Given the description of an element on the screen output the (x, y) to click on. 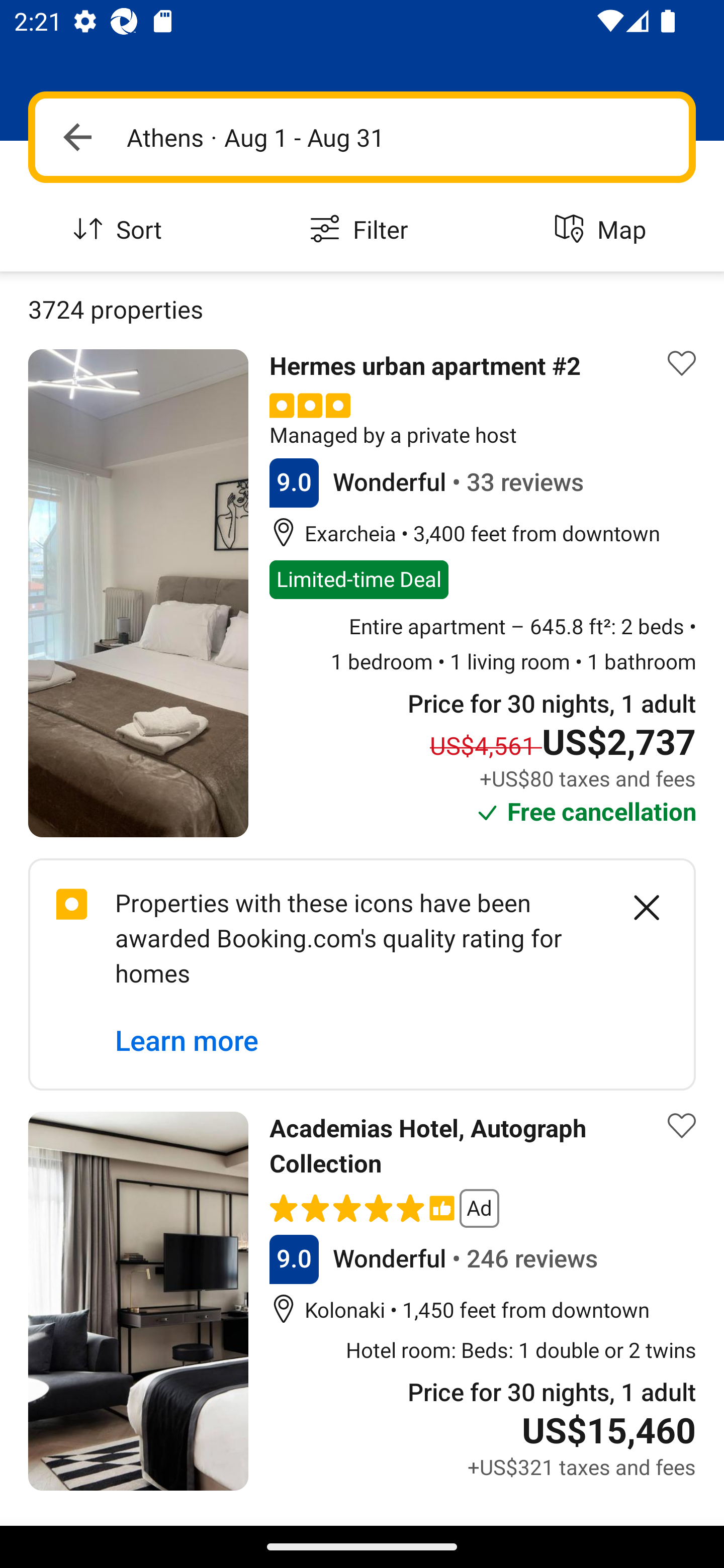
Navigate up Athens · Aug 1 - Aug 31 (362, 136)
Navigate up (77, 136)
Sort (120, 230)
Filter (361, 230)
Map (603, 230)
Save property to list (681, 363)
Clear (635, 907)
Learn more (187, 1040)
Save property to list (681, 1125)
